Given the description of an element on the screen output the (x, y) to click on. 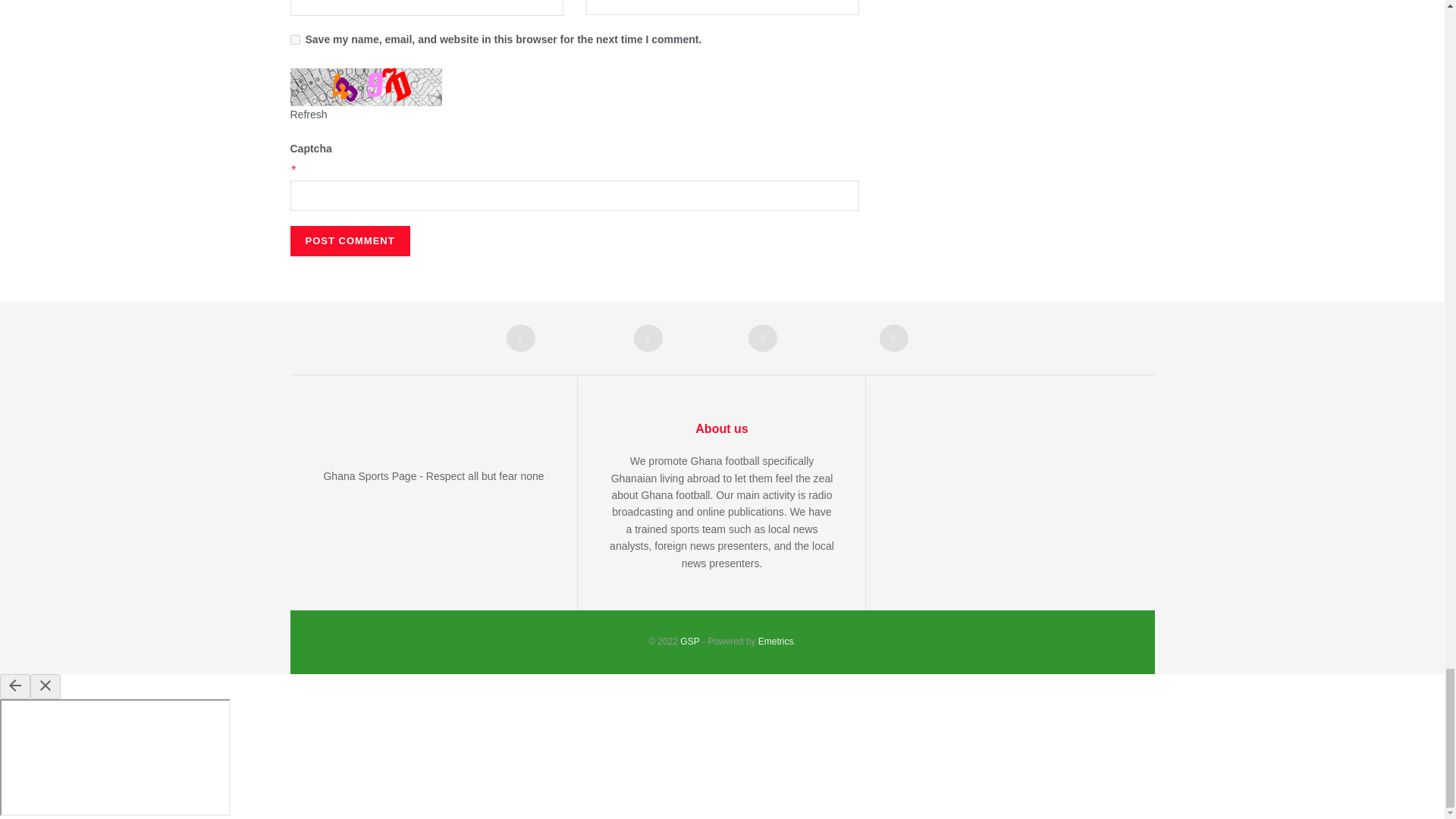
Emetrics (775, 641)
Enter Captcha here (574, 195)
GhanaSportsPage -Premium sports content (688, 641)
Click to refresh Captcha Image (307, 114)
yes (294, 40)
Click to refresh Captcha Image (365, 86)
Post Comment (349, 241)
